Given the description of an element on the screen output the (x, y) to click on. 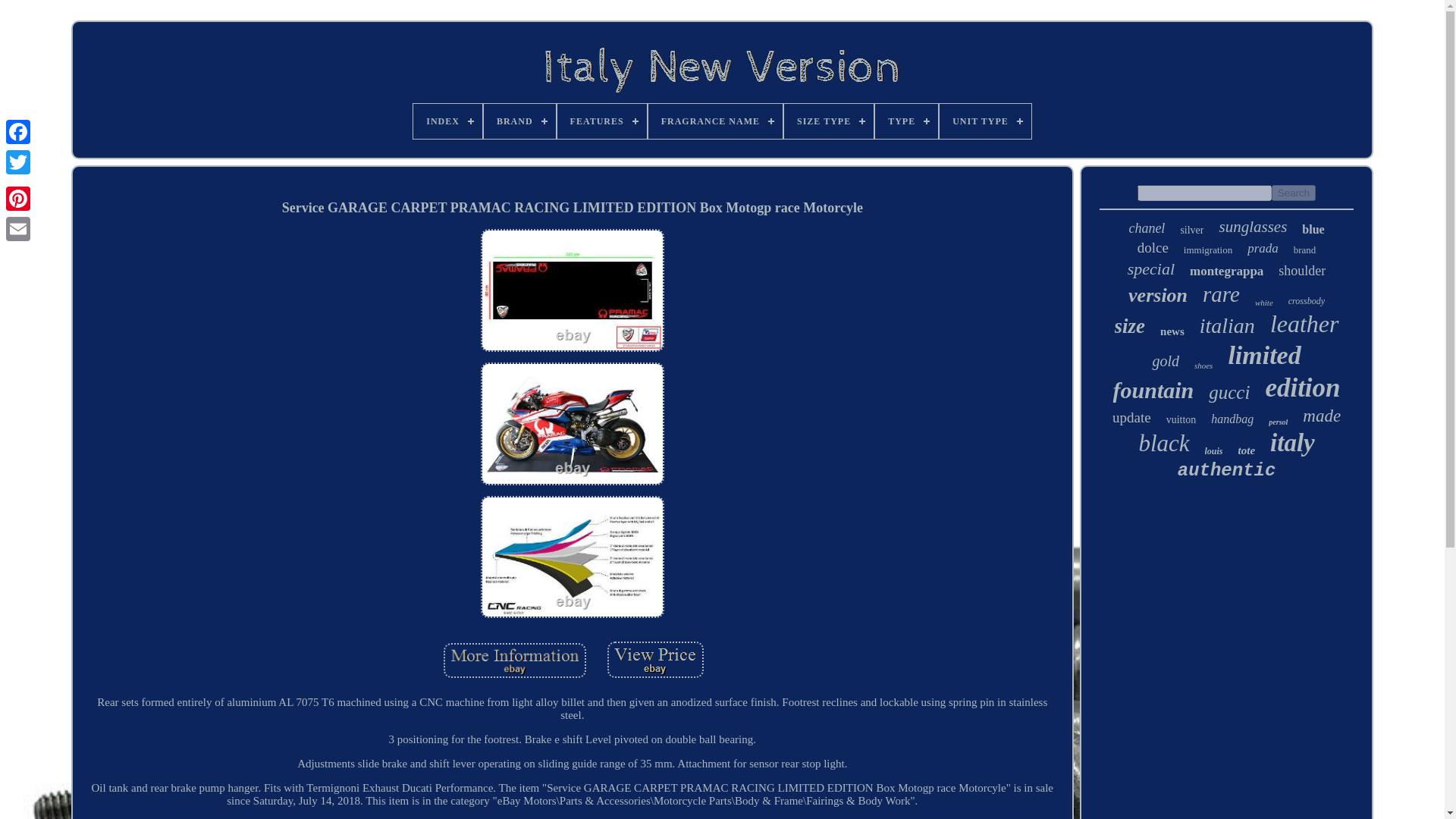
Search (1293, 192)
FEATURES (601, 121)
INDEX (447, 121)
BRAND (519, 121)
